Given the description of an element on the screen output the (x, y) to click on. 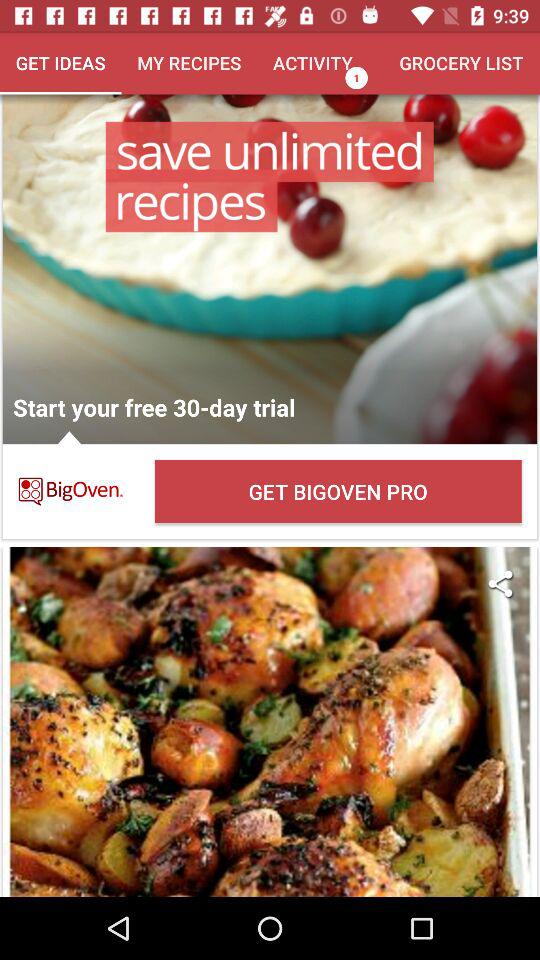
swipe until get bigoven pro item (337, 491)
